Given the description of an element on the screen output the (x, y) to click on. 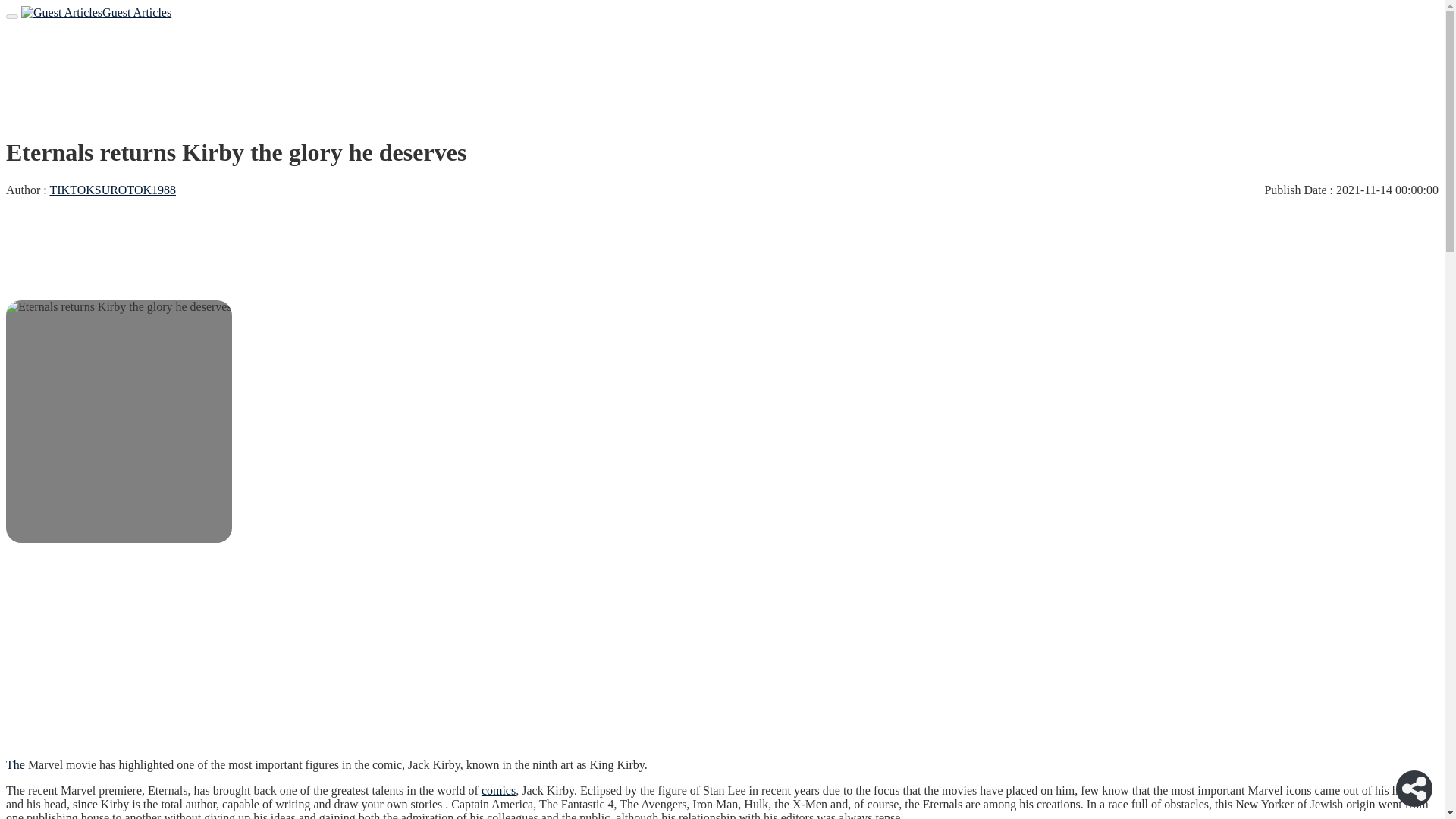
Guest Articles (96, 11)
TIKTOKSUROTOK1988 (112, 189)
comics (498, 789)
The (14, 764)
